Given the description of an element on the screen output the (x, y) to click on. 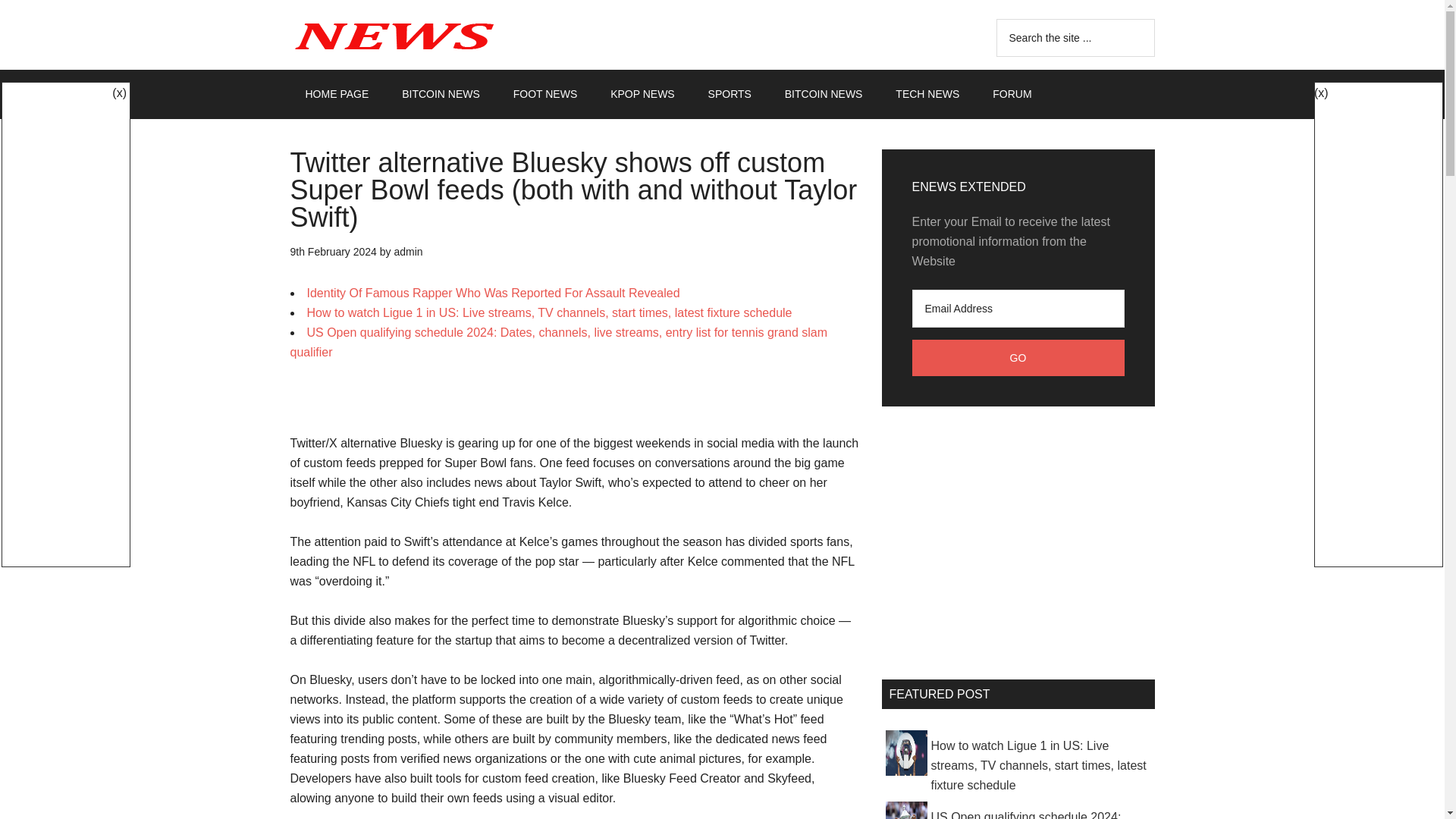
HOME PAGE (336, 93)
Go (1017, 357)
Email Address (1017, 308)
BITCOIN NEWS (441, 93)
FORUM (1011, 93)
admin (407, 251)
